Given the description of an element on the screen output the (x, y) to click on. 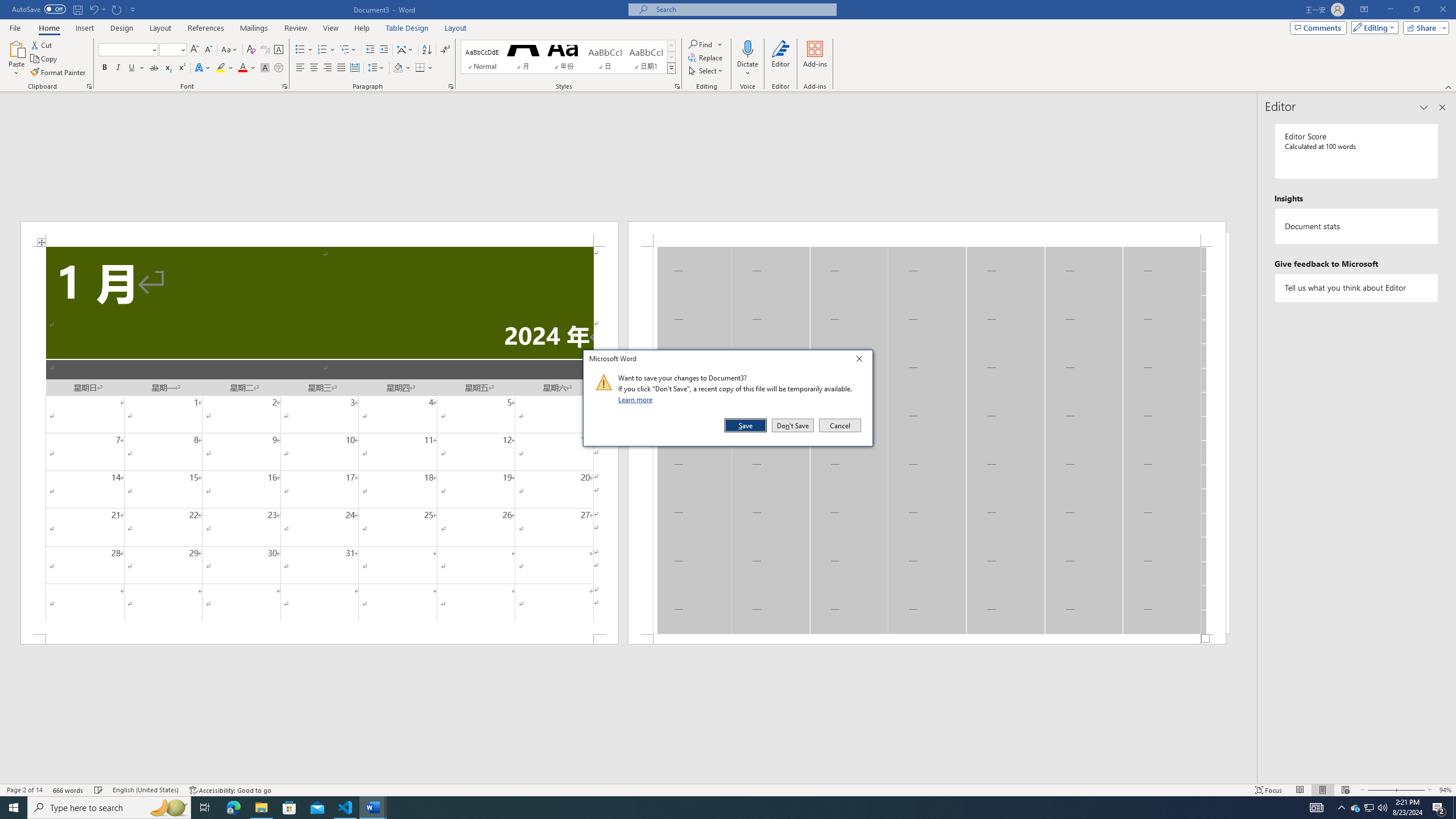
Asian Layout (405, 49)
Layout (1355, 807)
Row up (455, 28)
References (670, 45)
Justify (205, 28)
Close pane (340, 67)
Decrease Indent (1441, 107)
Center (370, 49)
Shading (313, 67)
Microsoft Edge (402, 67)
Don't Save (233, 807)
Help (792, 425)
